Given the description of an element on the screen output the (x, y) to click on. 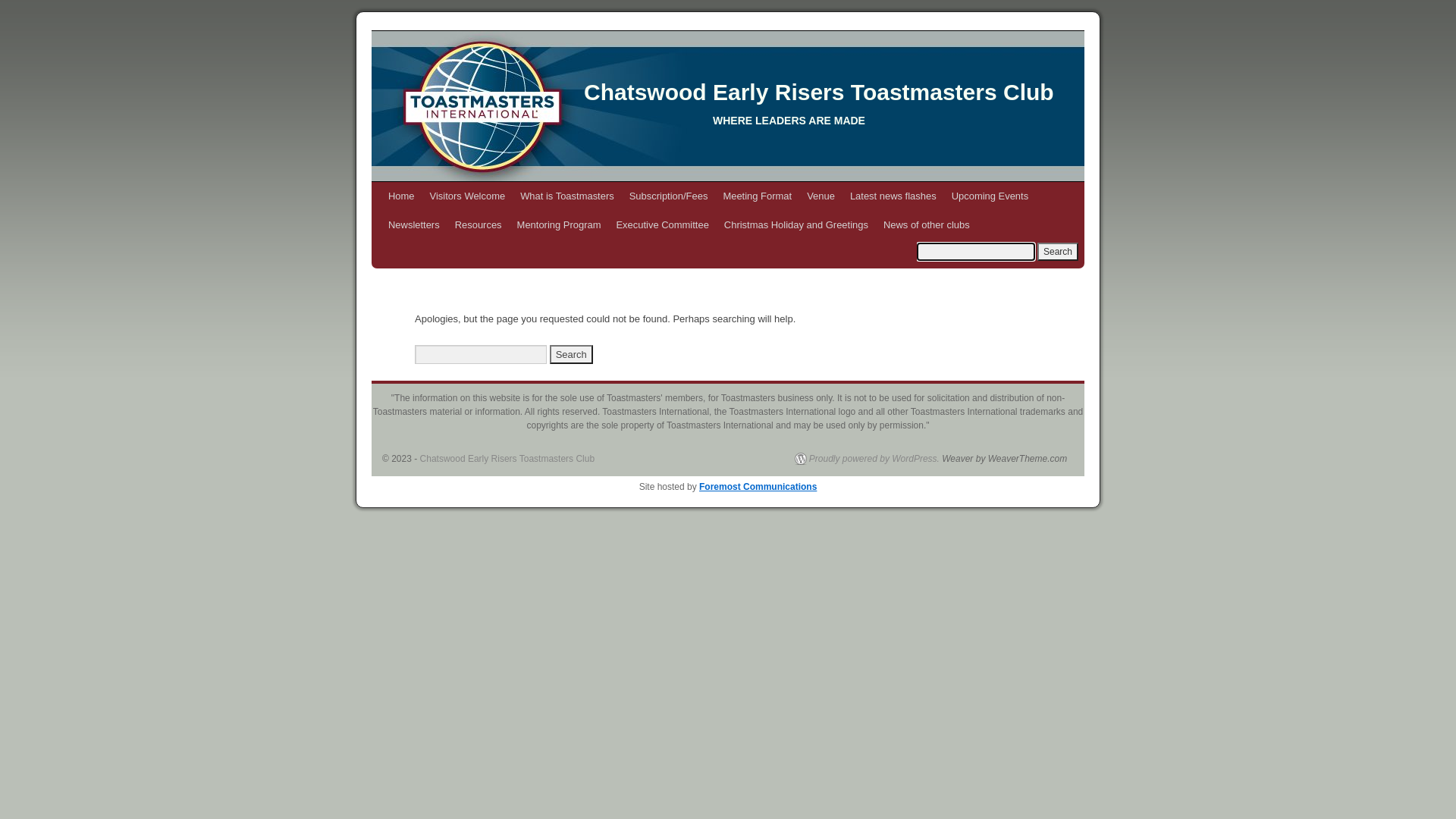
Resources Element type: text (478, 224)
What is Toastmasters Element type: text (566, 196)
Venue Element type: text (820, 196)
Search Element type: text (1057, 251)
Executive Committee Element type: text (661, 224)
Christmas Holiday and Greetings Element type: text (795, 224)
Home Element type: text (401, 196)
Upcoming Events Element type: text (990, 196)
Chatswood Early Risers Toastmasters Club Element type: hover (727, 106)
Foremost Communications Element type: text (757, 486)
Visitors Welcome Element type: text (467, 196)
Latest news flashes Element type: text (893, 196)
Search Element type: text (571, 354)
Chatswood Early Risers Toastmasters Club Element type: text (507, 458)
Newsletters Element type: text (413, 224)
News of other clubs Element type: text (926, 224)
Proudly powered by WordPress. Element type: text (866, 458)
Meeting Format Element type: text (757, 196)
Subscription/Fees Element type: text (668, 196)
Chatswood Early Risers Toastmasters Club Element type: text (818, 91)
Mentoring Program Element type: text (558, 224)
